Given the description of an element on the screen output the (x, y) to click on. 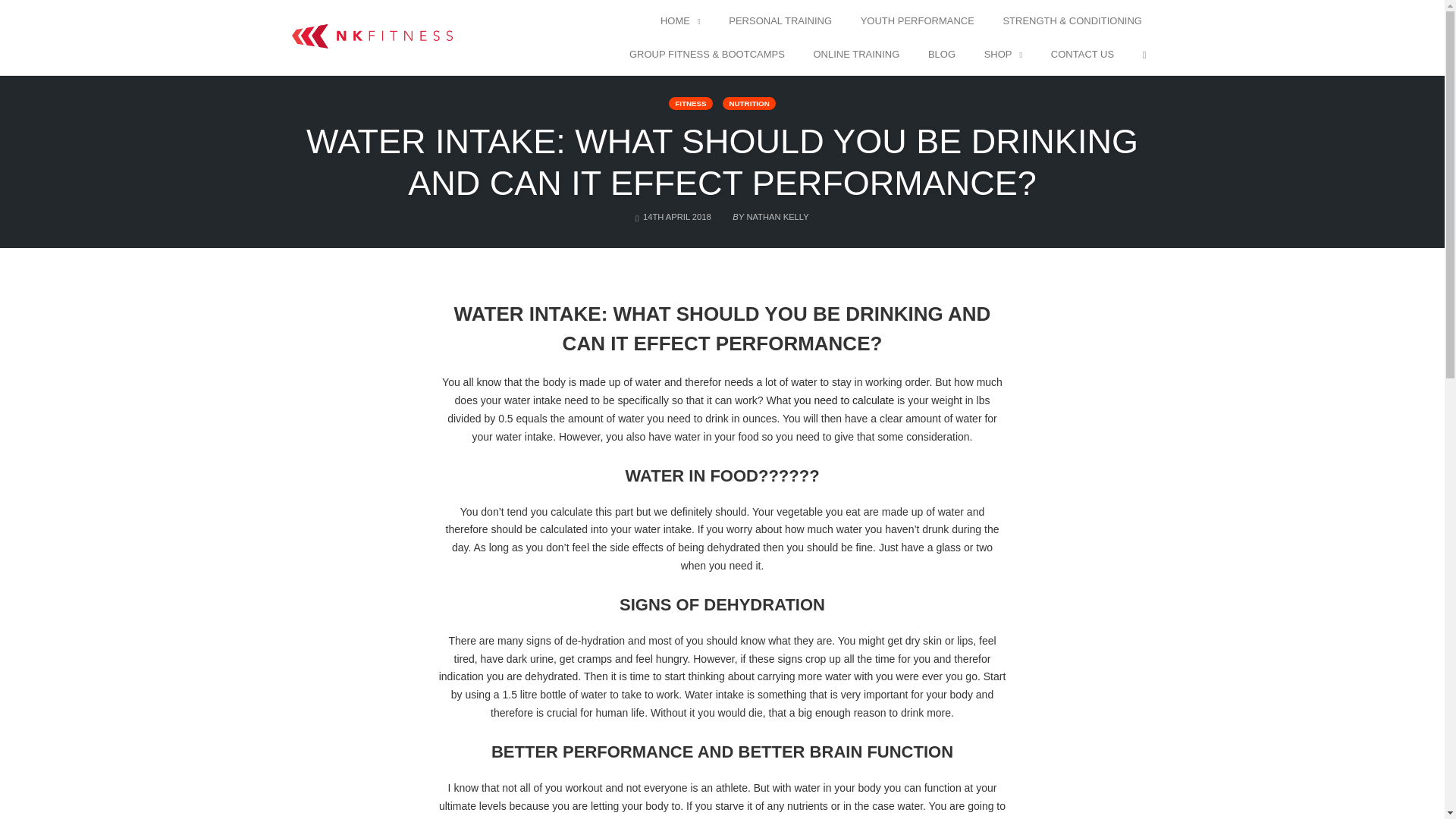
FITNESS (689, 103)
PERSONAL TRAINING (780, 20)
YOUTH PERFORMANCE (916, 20)
CONTACT US (1082, 54)
you need to calculate (843, 399)
HOME (680, 20)
OPEN SEARCH FORM (1144, 54)
ONLINE TRAINING (856, 54)
BLOG (941, 54)
BY NATHAN KELLY (769, 212)
NUTRITION (748, 103)
SHOP (1002, 54)
